Given the description of an element on the screen output the (x, y) to click on. 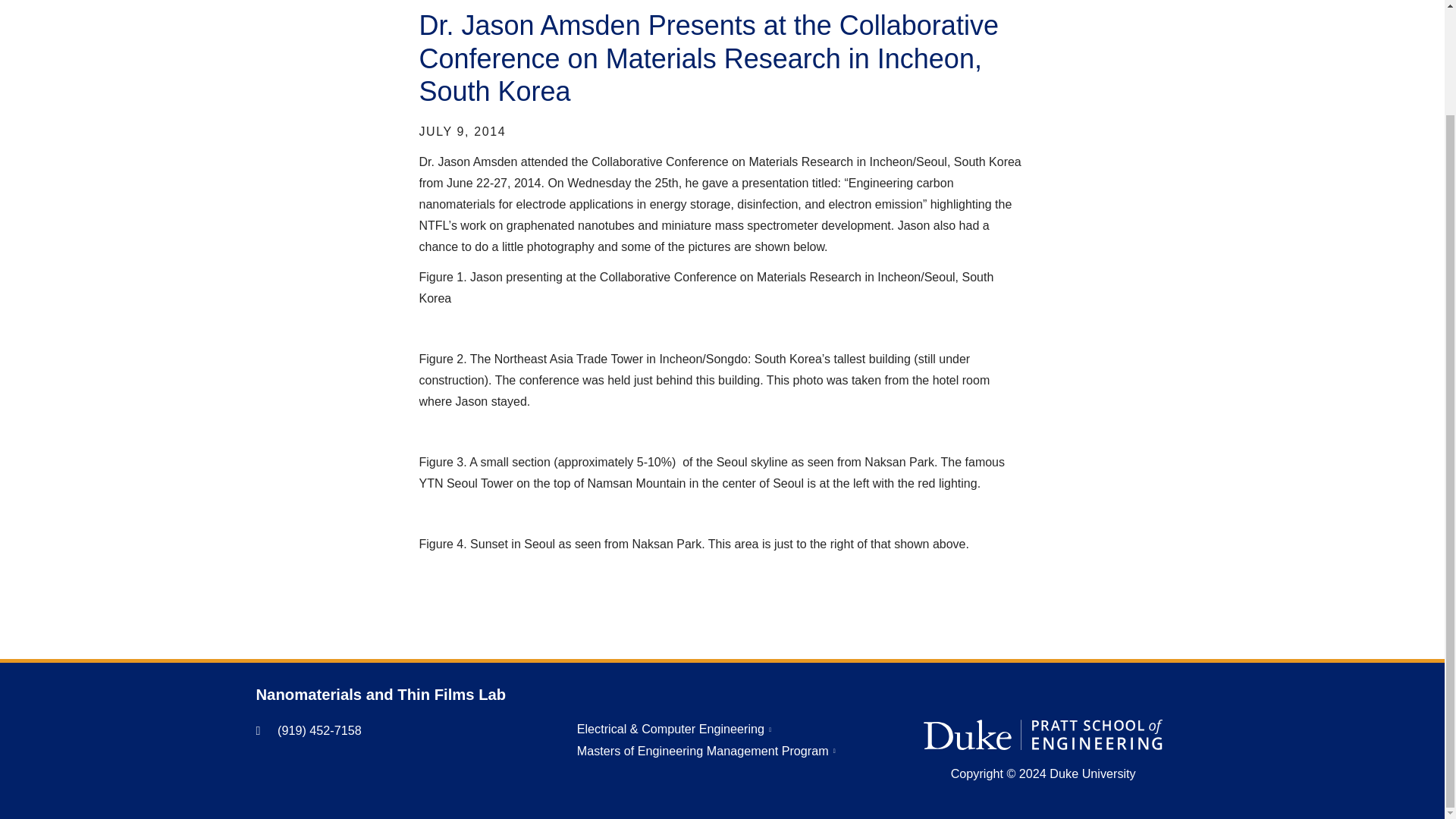
Masters of Engineering Management Program (705, 750)
